Given the description of an element on the screen output the (x, y) to click on. 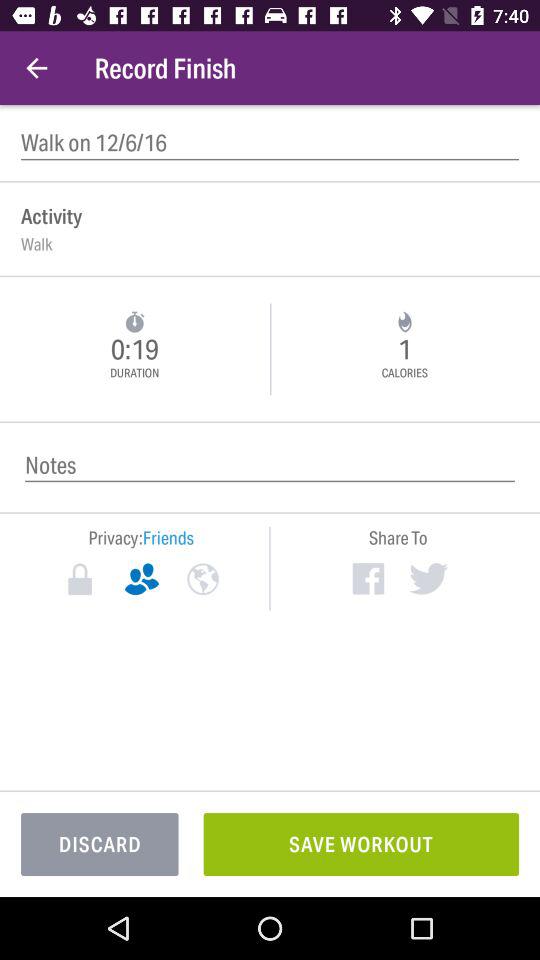
title of the curent activity (269, 142)
